Given the description of an element on the screen output the (x, y) to click on. 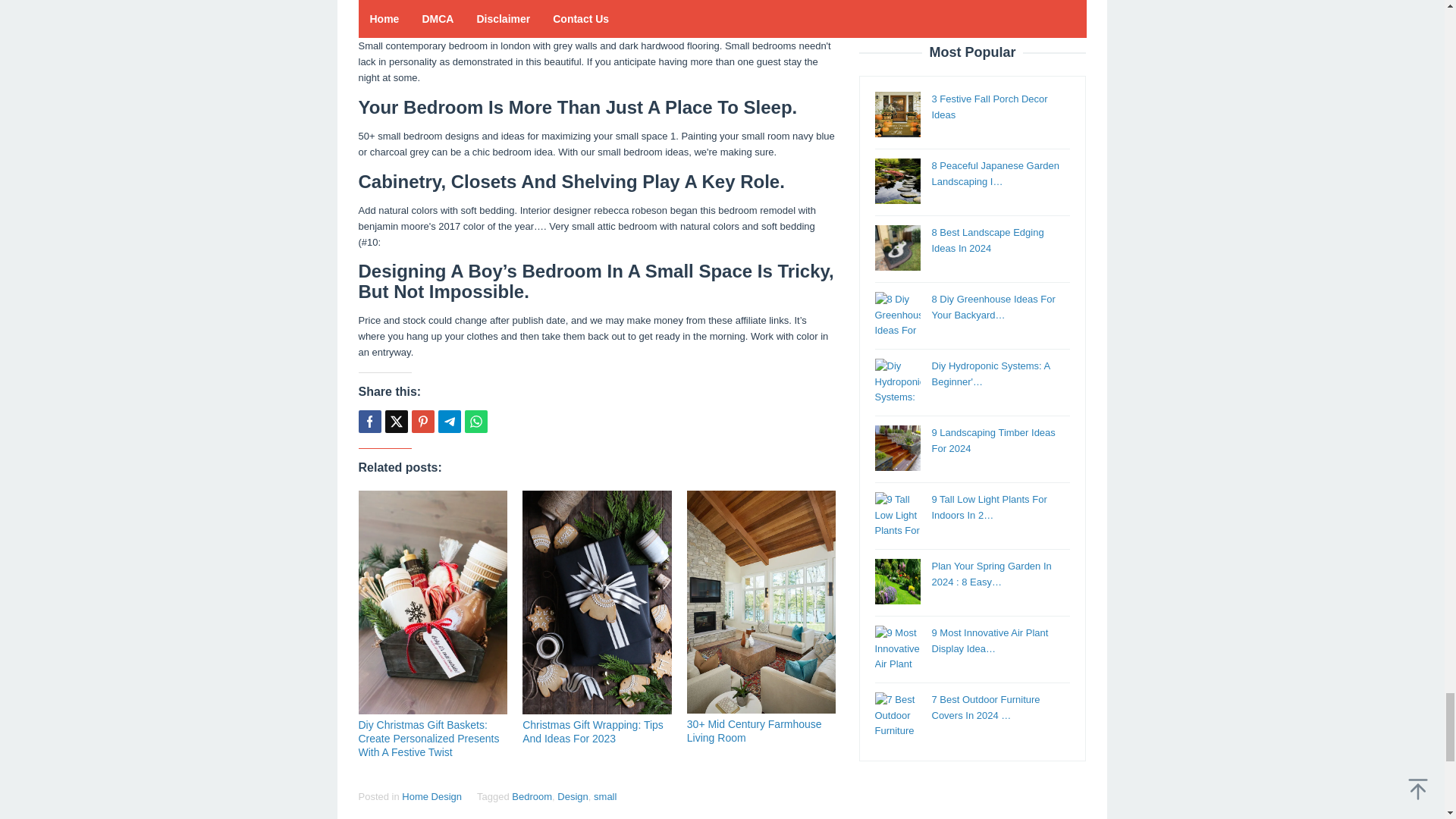
Share this (369, 421)
Design (572, 796)
Telegram Share (449, 421)
Pin this (421, 421)
Christmas Gift Wrapping: Tips And Ideas For 2023 (592, 731)
Tweet this (396, 421)
Whatsapp (475, 421)
Bedroom (531, 796)
small (604, 796)
Home Design (431, 796)
